Given the description of an element on the screen output the (x, y) to click on. 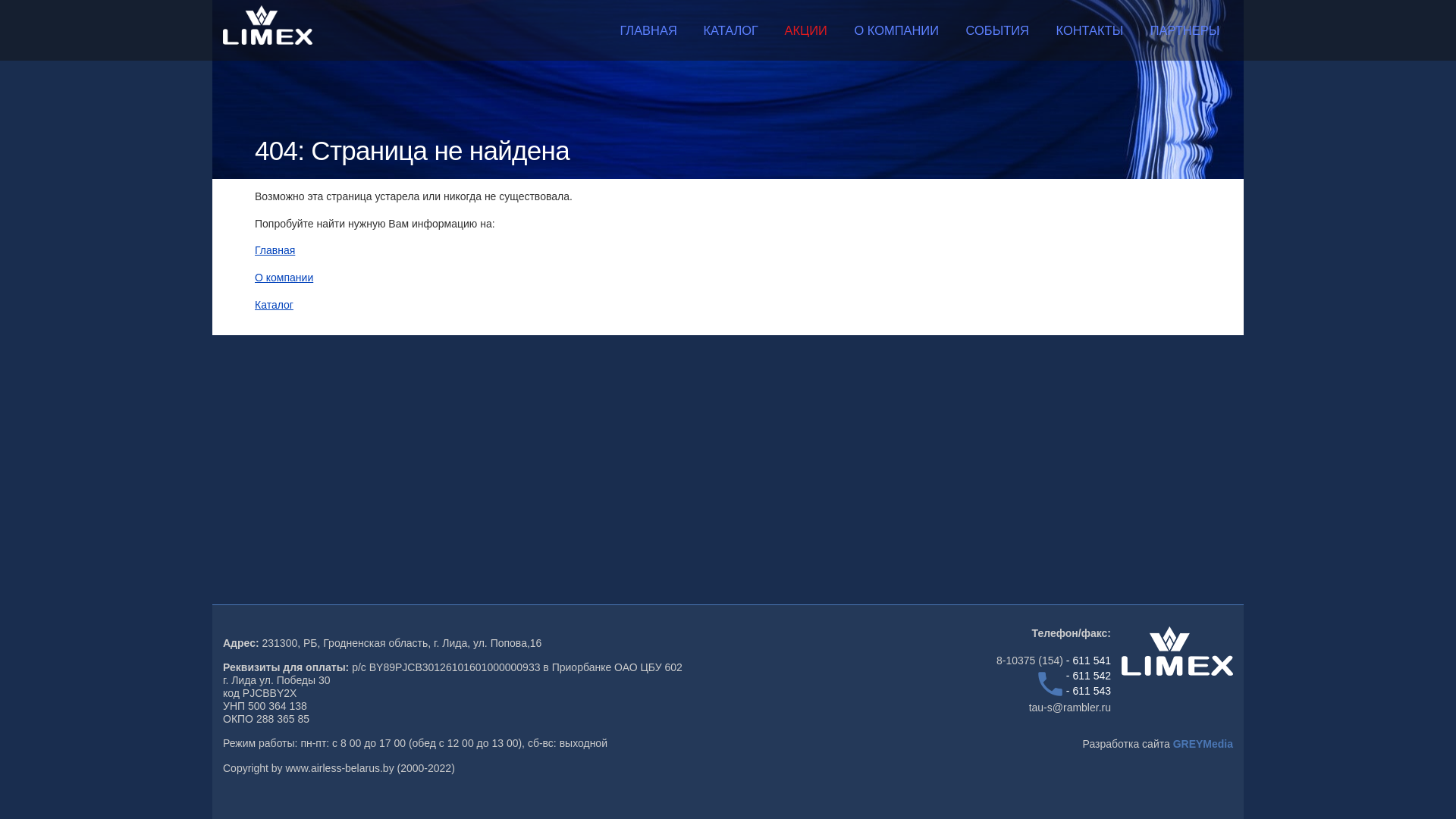
8-10375 (154) - 611 541 Element type: text (1053, 660)
- 611 542 Element type: text (1088, 675)
tau-s@rambler.ru Element type: text (1069, 707)
- 611 543 Element type: text (1088, 690)
